Given the description of an element on the screen output the (x, y) to click on. 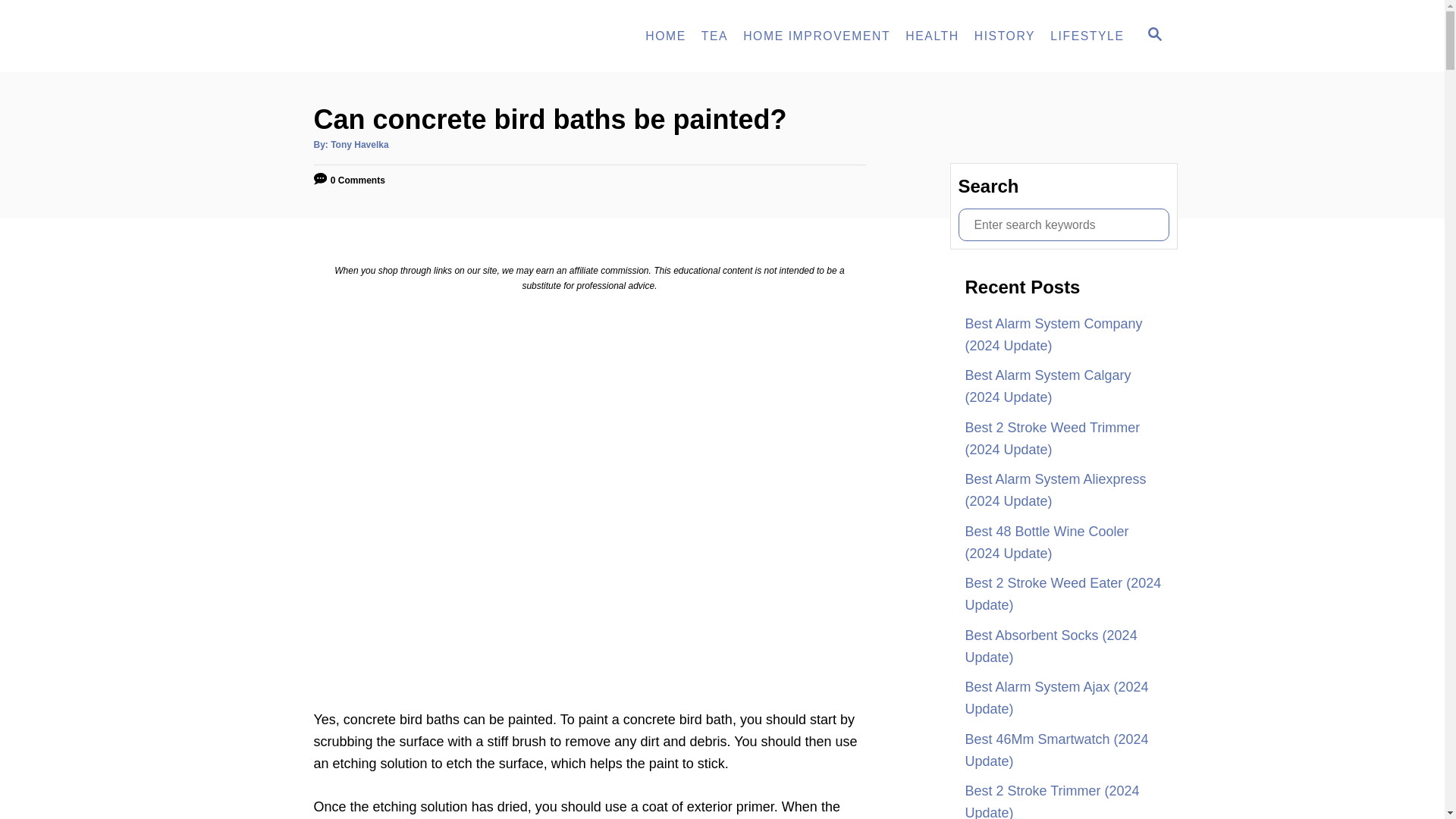
HOME IMPROVEMENT (1153, 35)
HOME (816, 36)
LIFESTYLE (665, 36)
Liquid Image (1086, 36)
Tony Havelka (403, 36)
YouTube player (359, 144)
HEALTH (714, 36)
HISTORY (932, 36)
